Given the description of an element on the screen output the (x, y) to click on. 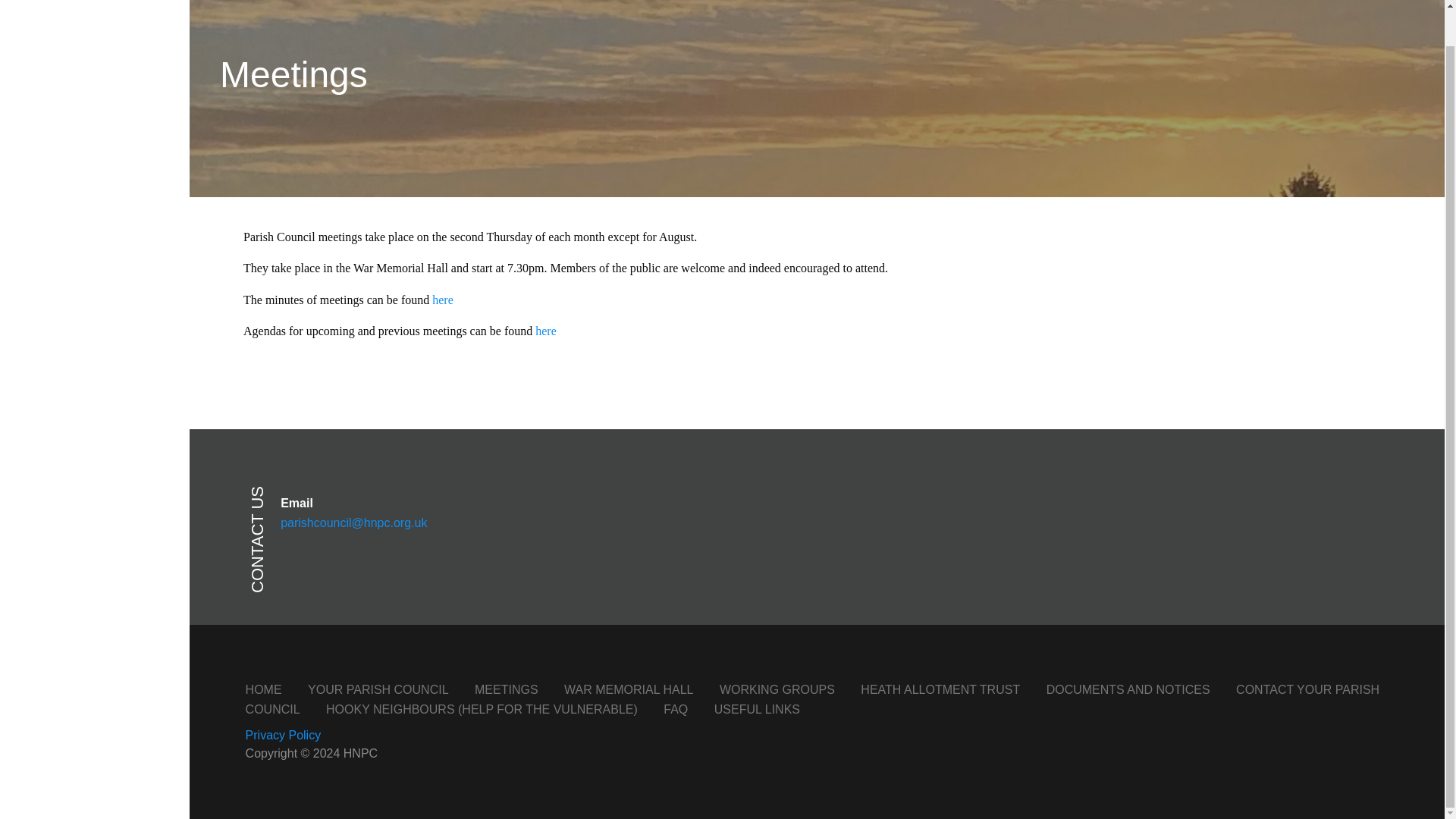
WAR MEMORIAL HALL (628, 689)
here (442, 299)
here (545, 330)
HOME (264, 689)
MEETINGS (506, 689)
YOUR PARISH COUNCIL (377, 689)
WORKING GROUPS (776, 689)
